Given the description of an element on the screen output the (x, y) to click on. 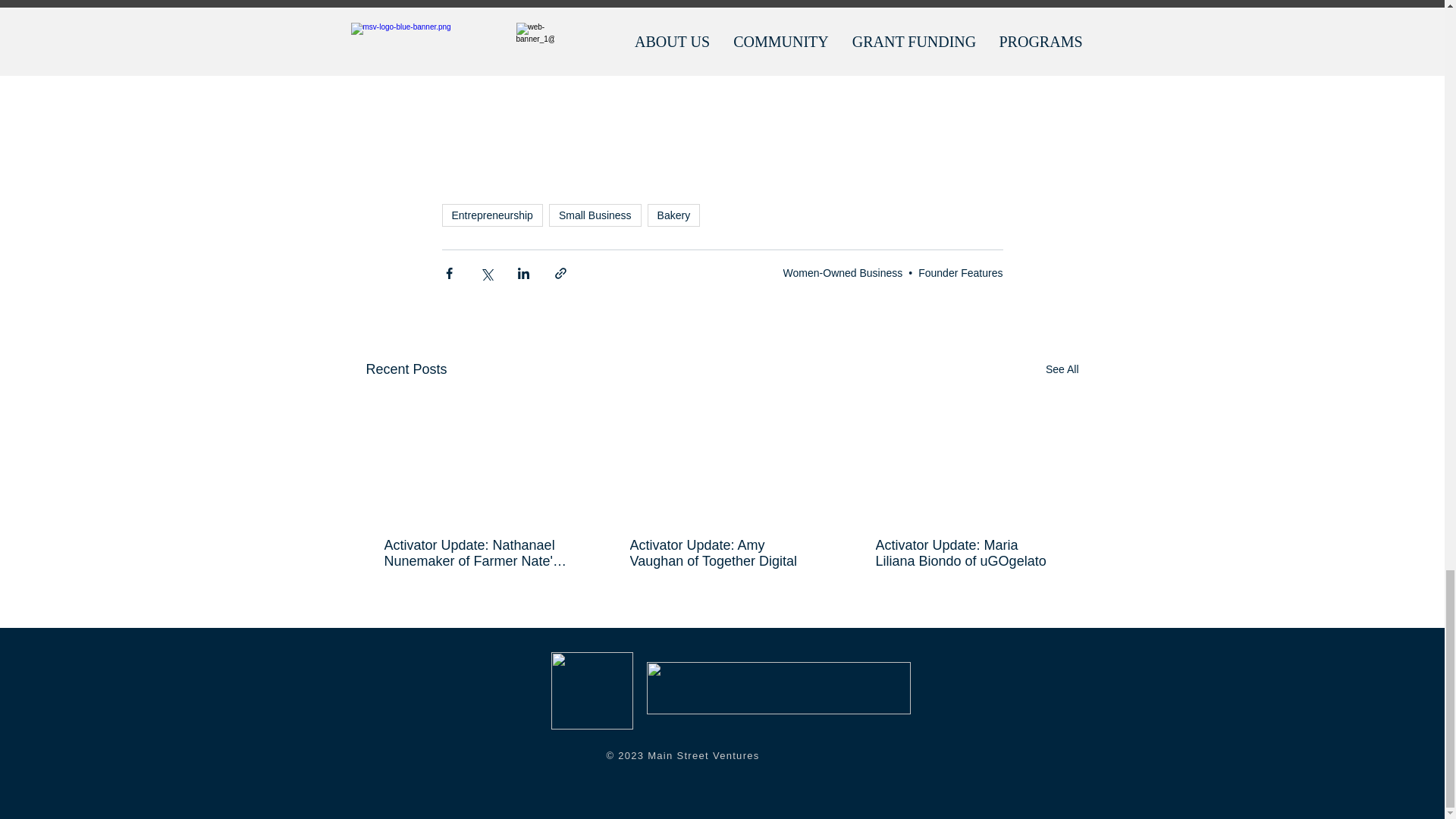
Women-Owned Business (842, 272)
Founder Features (960, 272)
Activator Update: Nathanael Nunemaker of Farmer Nate's Sauce (475, 553)
Small Business (595, 214)
Entrepreneurship (491, 214)
See All (1061, 369)
Bakery (673, 214)
